Given the description of an element on the screen output the (x, y) to click on. 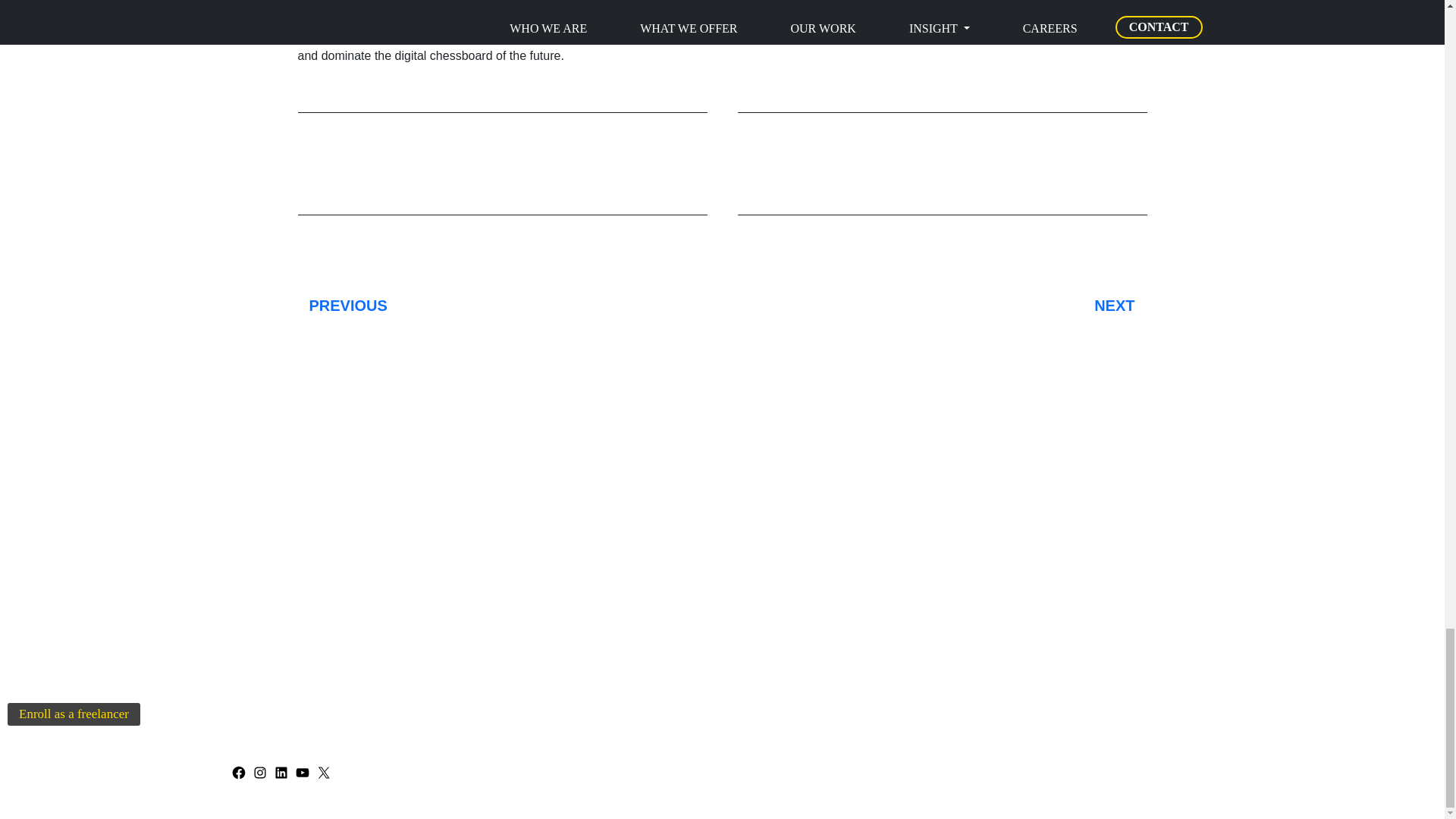
NEXT (934, 305)
PREVIOUS (509, 305)
